Given the description of an element on the screen output the (x, y) to click on. 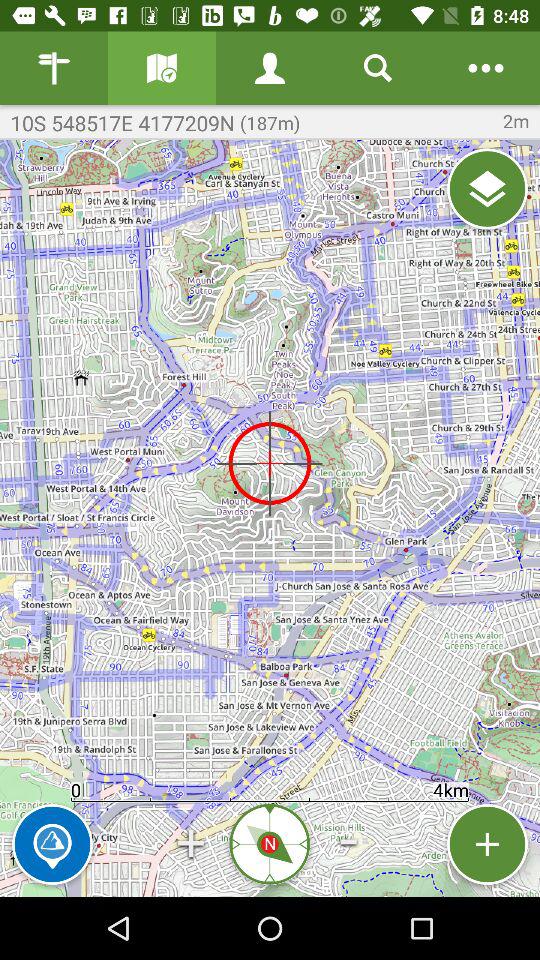
more menu selections (486, 68)
